Given the description of an element on the screen output the (x, y) to click on. 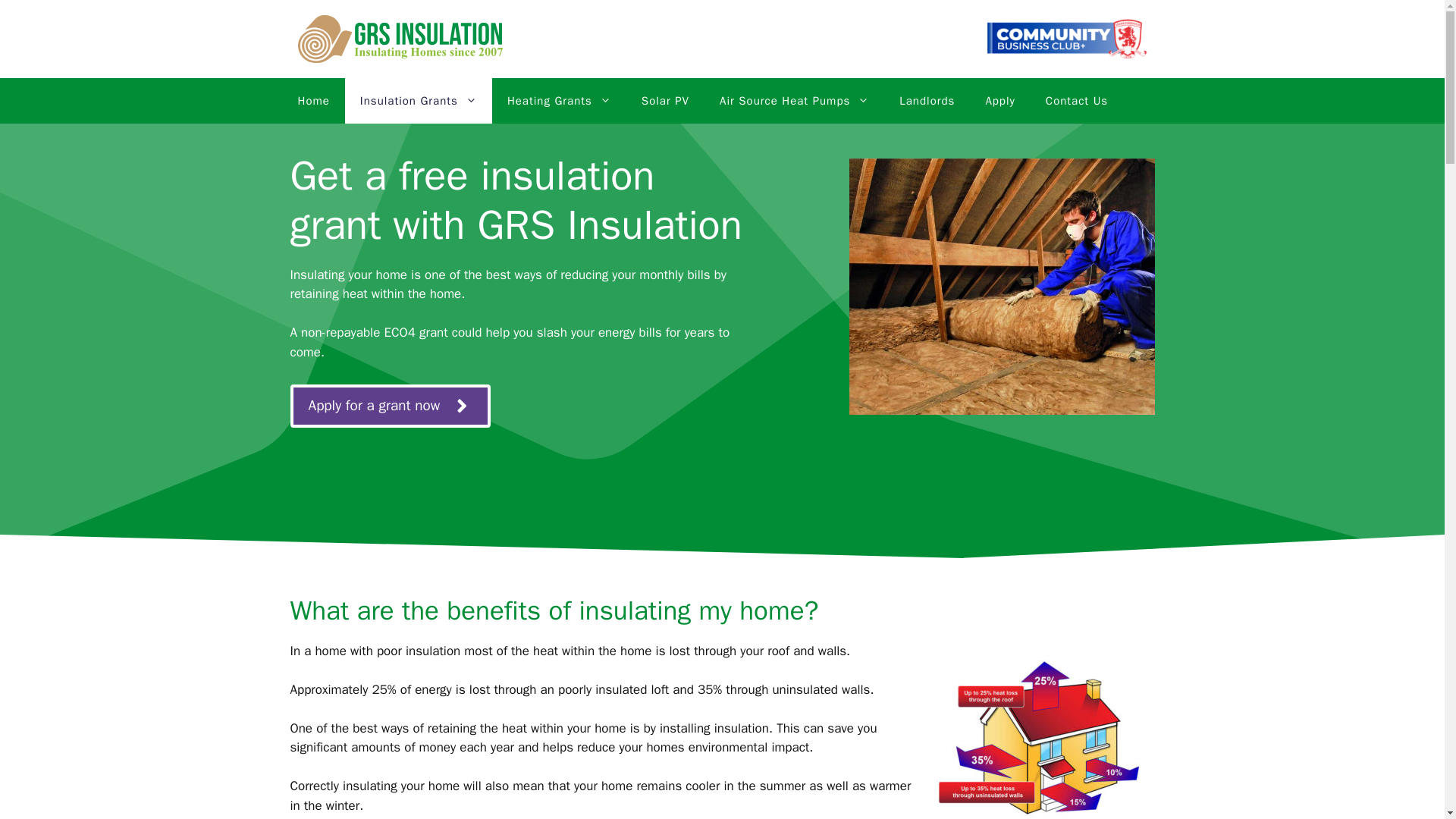
Solar PV (665, 100)
Apply (999, 100)
Heating Grants (559, 100)
Air Source Heat Pumps (793, 100)
Contact Us (1076, 100)
Landlords (926, 100)
Home (312, 100)
Insulation Grants (418, 100)
Apply for a grant now (389, 405)
